Given the description of an element on the screen output the (x, y) to click on. 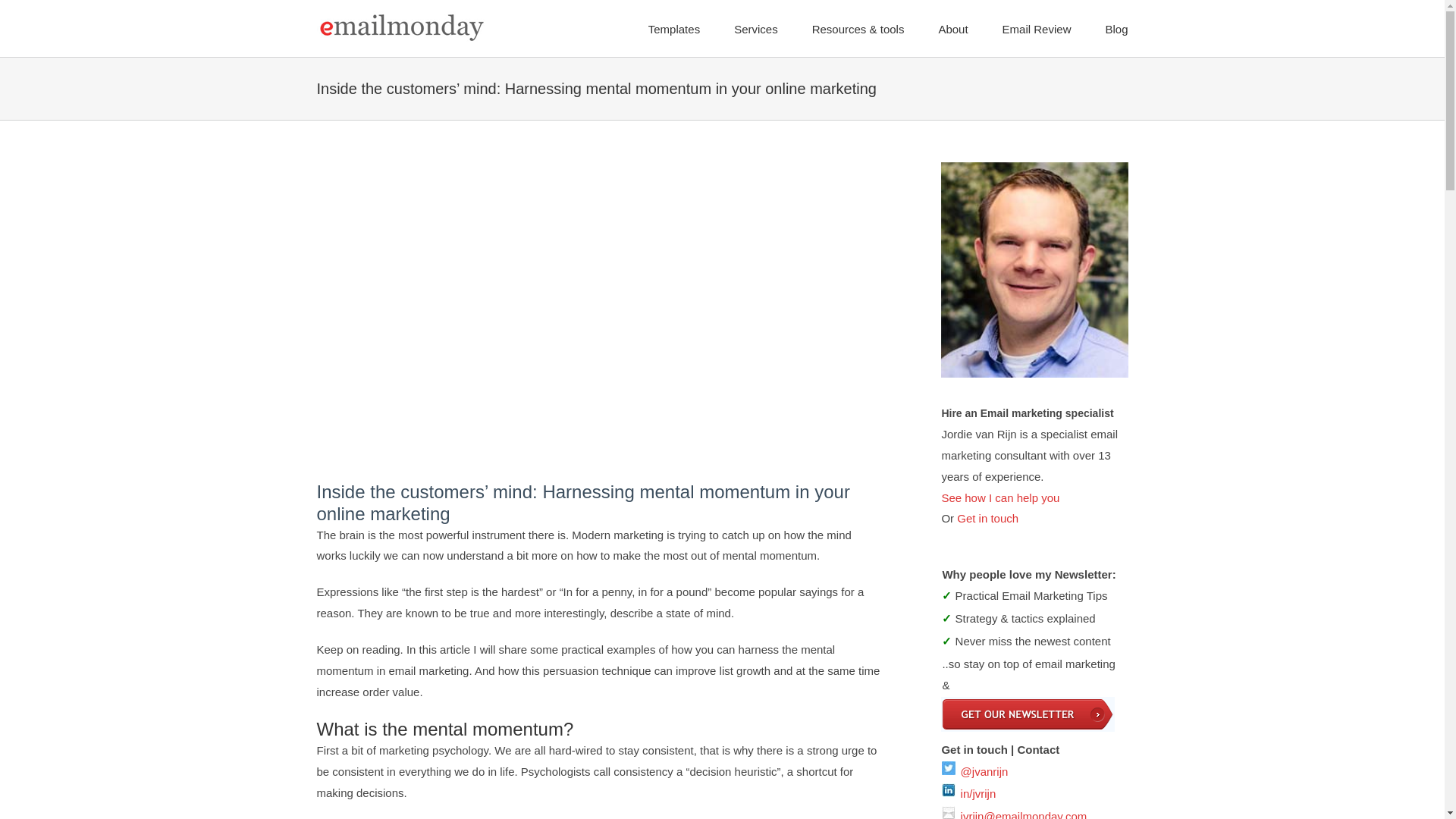
Email Review (1037, 28)
About (952, 28)
Services (755, 28)
Blog (1115, 28)
Templates (673, 28)
